Given the description of an element on the screen output the (x, y) to click on. 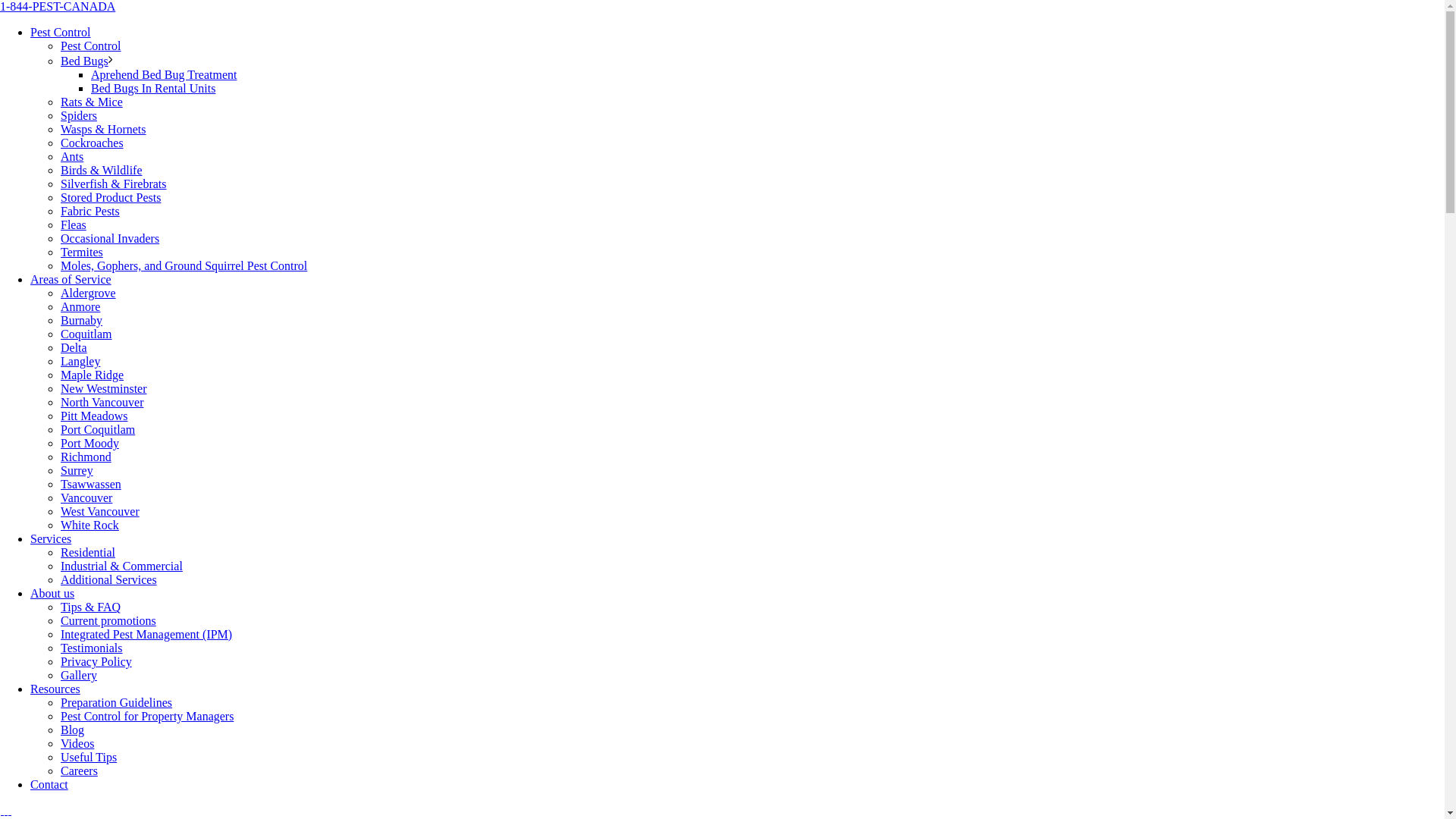
Privacy Policy Element type: text (95, 661)
Silverfish & Firebrats Element type: text (113, 183)
1ST Pest Control Element type: hover (6, 809)
Vancouver Element type: text (86, 497)
Burnaby Element type: text (81, 319)
Gallery Element type: text (78, 674)
Areas of Service Element type: text (70, 279)
Rats & Mice Element type: text (91, 101)
West Vancouver Element type: text (99, 511)
Coquitlam Element type: text (86, 333)
Surrey Element type: text (76, 470)
Birds & Wildlife Element type: text (101, 169)
Wasps & Hornets Element type: text (102, 128)
Anmore Element type: text (80, 306)
Cockroaches Element type: text (91, 142)
Pest Control Element type: text (60, 31)
Bed Bugs Element type: text (84, 60)
1-844-PEST-CANADA Element type: text (722, 6)
North Vancouver Element type: text (101, 401)
Port Moody Element type: text (89, 442)
Bed Bugs In Rental Units Element type: text (153, 87)
Residential Element type: text (87, 552)
Contact Element type: text (49, 784)
About us Element type: text (52, 592)
Blog Element type: text (72, 729)
Videos Element type: text (77, 743)
Resources Element type: text (55, 688)
Port Coquitlam Element type: text (97, 429)
Testimonials Element type: text (91, 647)
Pest Control for Property Managers Element type: text (146, 715)
Maple Ridge Element type: text (91, 374)
Services Element type: text (50, 538)
Termites Element type: text (81, 251)
Careers Element type: text (78, 770)
Integrated Pest Management (IPM) Element type: text (146, 633)
Fleas Element type: text (73, 224)
Moles, Gophers, and Ground Squirrel Pest Control Element type: text (183, 265)
Stored Product Pests Element type: text (110, 197)
White Rock Element type: text (89, 524)
Industrial & Commercial Element type: text (121, 565)
Aldergrove Element type: text (88, 292)
Additional Services Element type: text (108, 579)
Pest Control Element type: text (90, 45)
New Westminster Element type: text (103, 388)
Occasional Invaders Element type: text (109, 238)
Spiders Element type: text (78, 115)
Tips & FAQ Element type: text (90, 606)
Current promotions Element type: text (108, 620)
Fabric Pests Element type: text (89, 210)
Langley Element type: text (80, 360)
Aprehend Bed Bug Treatment Element type: text (163, 74)
Tsawwassen Element type: text (90, 483)
Useful Tips Element type: text (88, 756)
Delta Element type: text (73, 347)
Pitt Meadows Element type: text (93, 415)
Ants Element type: text (71, 156)
Preparation Guidelines Element type: text (116, 702)
Richmond Element type: text (85, 456)
